Given the description of an element on the screen output the (x, y) to click on. 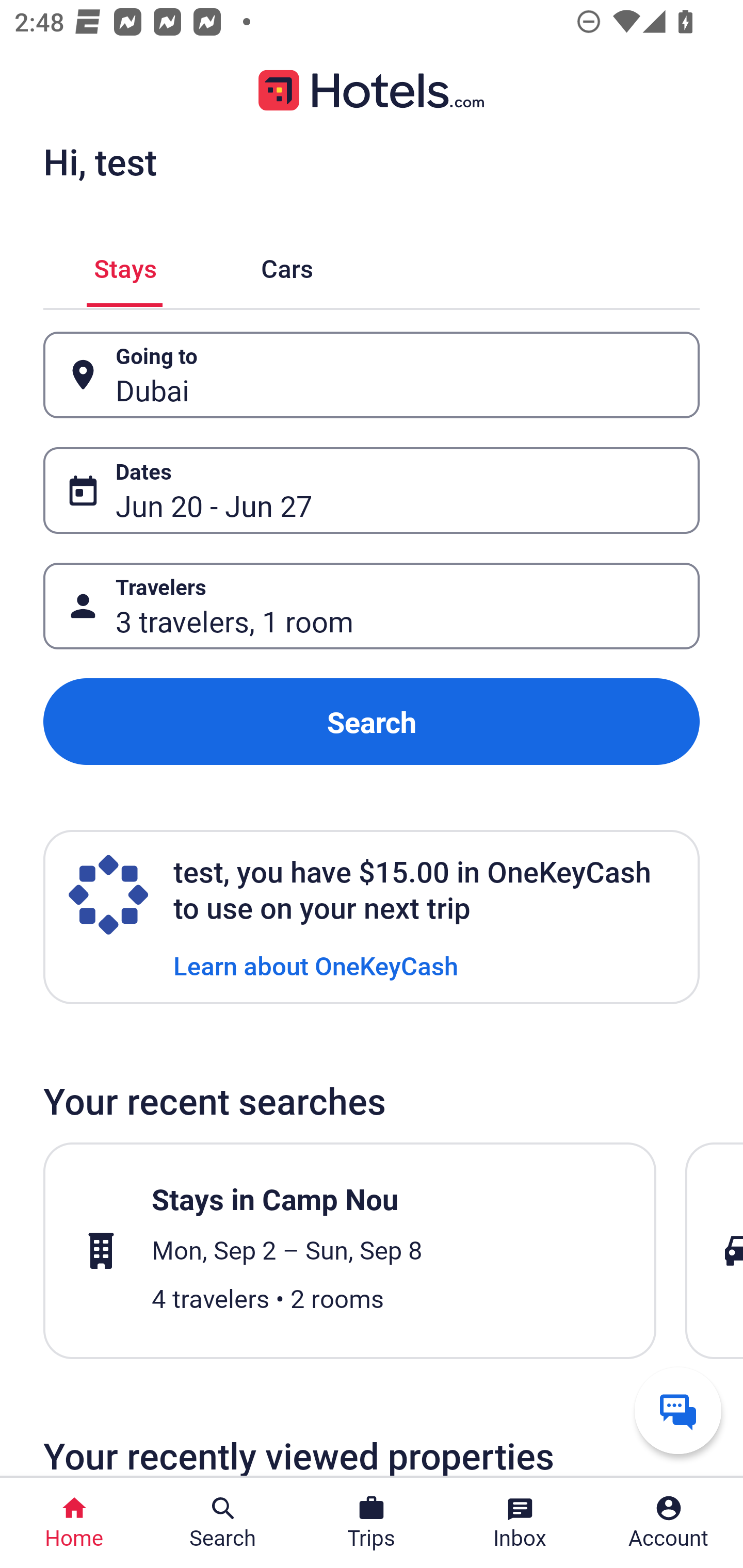
Hi, test (99, 161)
Cars (286, 265)
Going to Button Dubai (371, 375)
Dates Button Jun 20 - Jun 27 (371, 489)
Travelers Button 3 travelers, 1 room (371, 605)
Search (371, 721)
Learn about OneKeyCash Learn about OneKeyCash Link (315, 964)
Get help from a virtual agent (677, 1410)
Search Search Button (222, 1522)
Trips Trips Button (371, 1522)
Inbox Inbox Button (519, 1522)
Account Profile. Button (668, 1522)
